Given the description of an element on the screen output the (x, y) to click on. 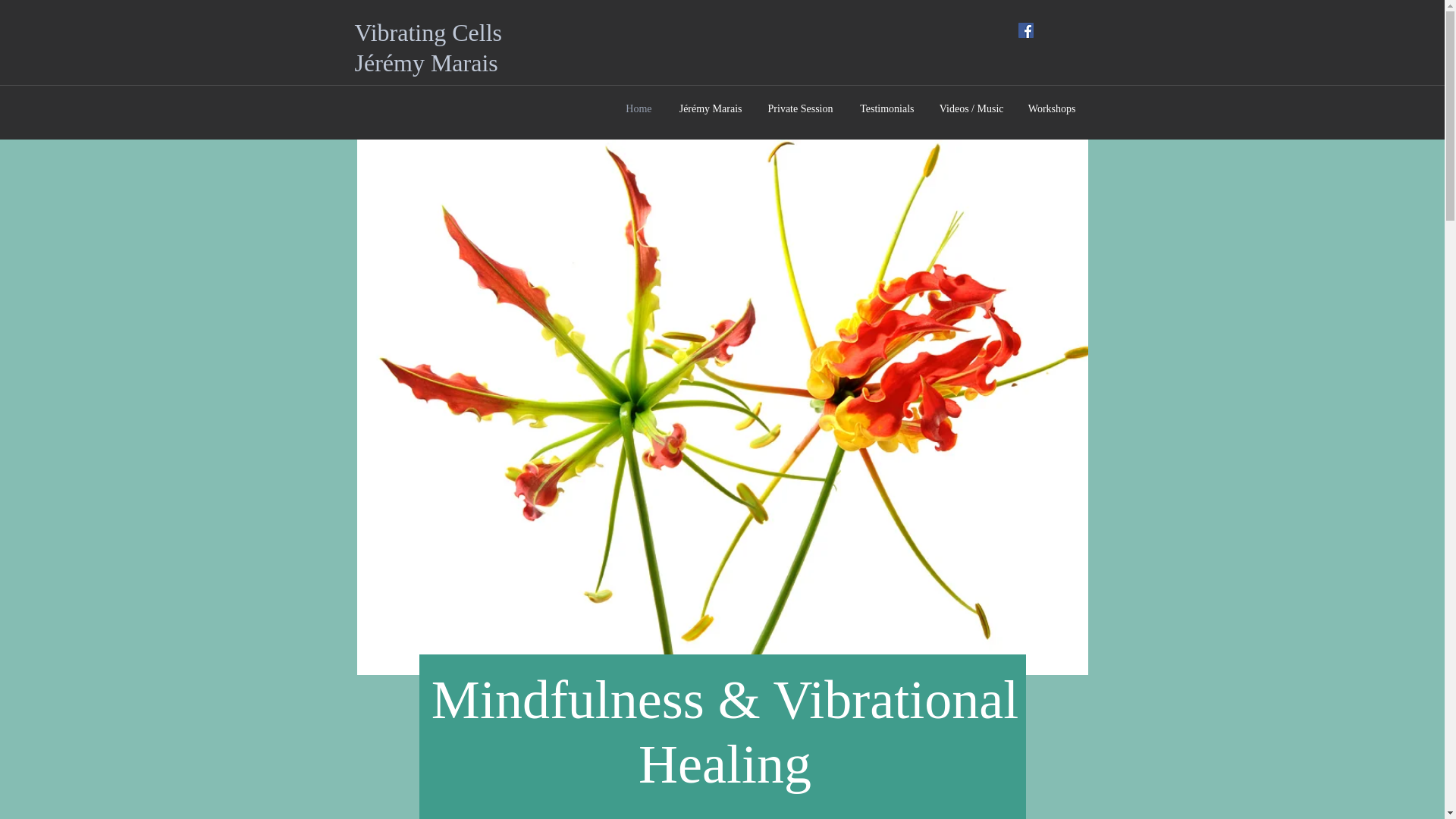
Home (636, 108)
Workshops (1047, 108)
Testimonials (880, 108)
Private Session (794, 108)
